Given the description of an element on the screen output the (x, y) to click on. 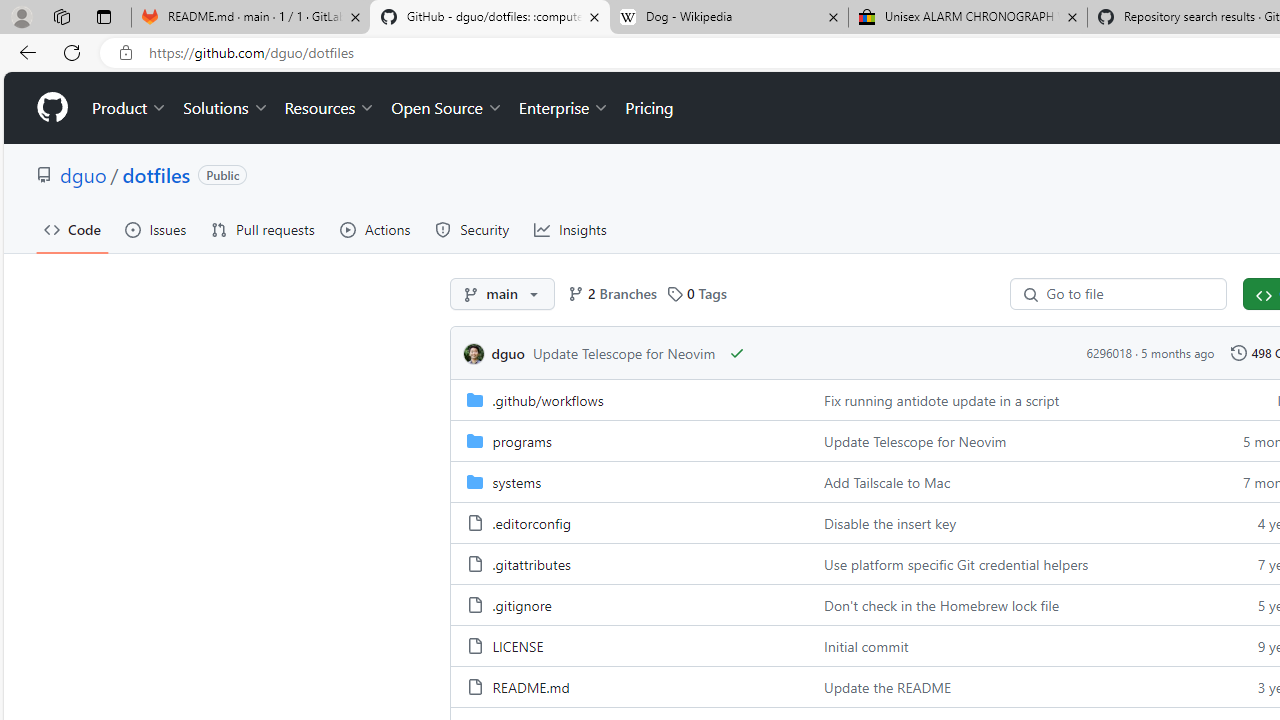
Use platform specific Git credential helpers (1008, 562)
Actions (375, 229)
Update Telescope for Neovim (1008, 439)
README.md, (File) (530, 686)
Pricing (649, 107)
.gitattributes, (File) (629, 562)
Disable the insert key (1008, 521)
Add Tailscale to Mac (1008, 480)
success (737, 353)
Add Tailscale to Mac (887, 481)
Issues (155, 229)
Initial commit (866, 645)
systems, (Directory) (516, 481)
